Given the description of an element on the screen output the (x, y) to click on. 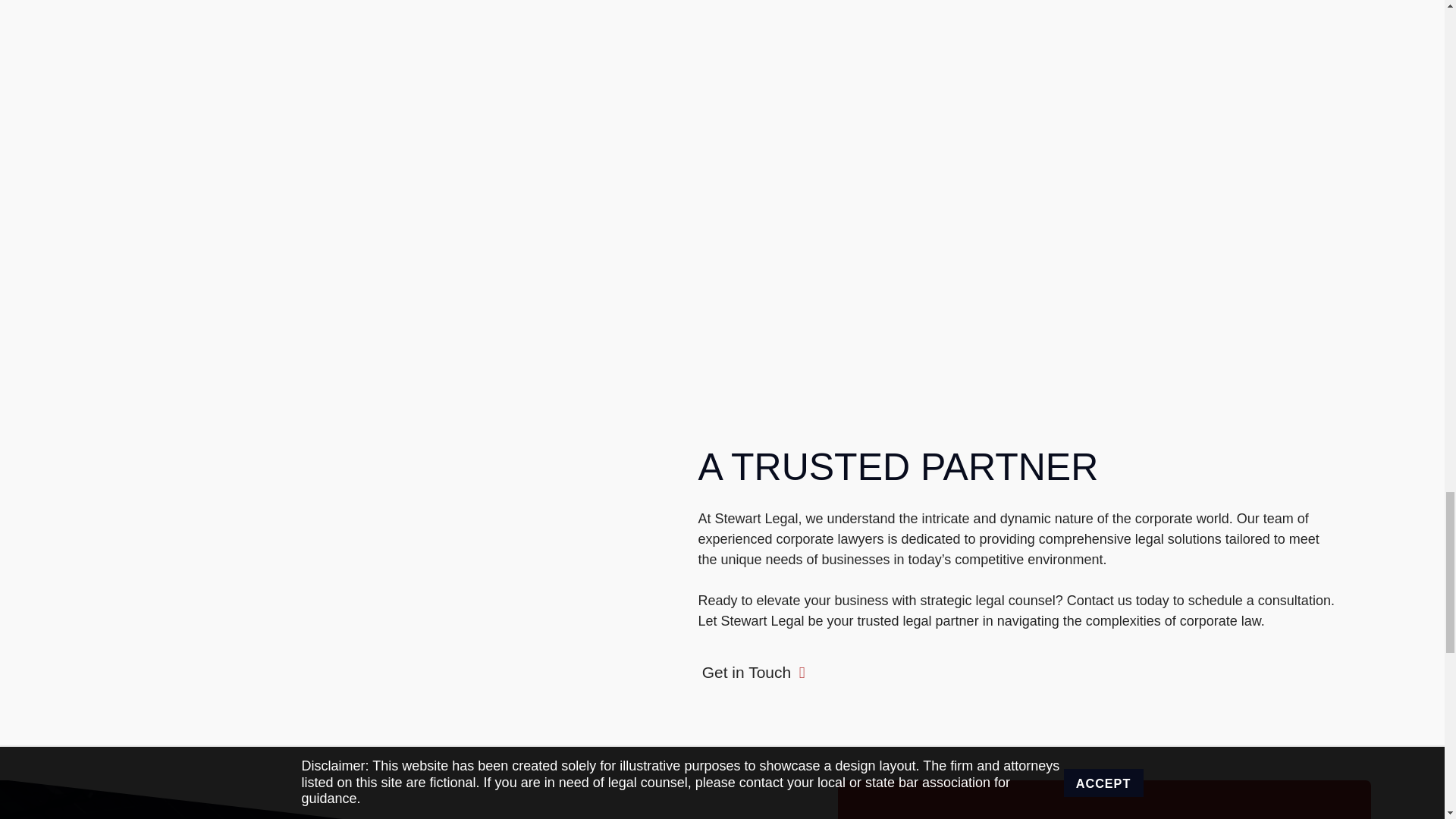
 Get in Touch (752, 671)
